Given the description of an element on the screen output the (x, y) to click on. 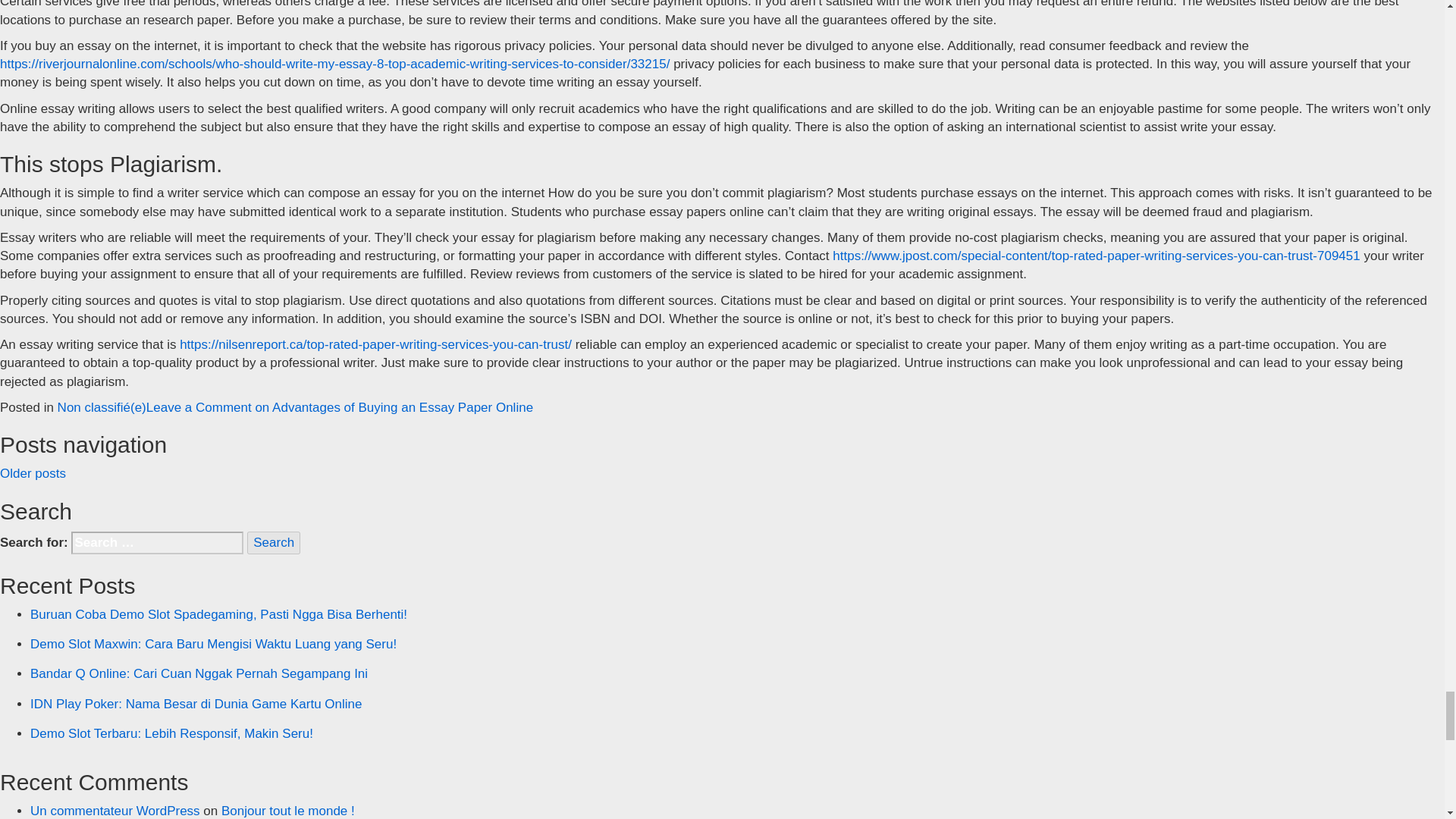
Search (273, 542)
Search (273, 542)
